Given the description of an element on the screen output the (x, y) to click on. 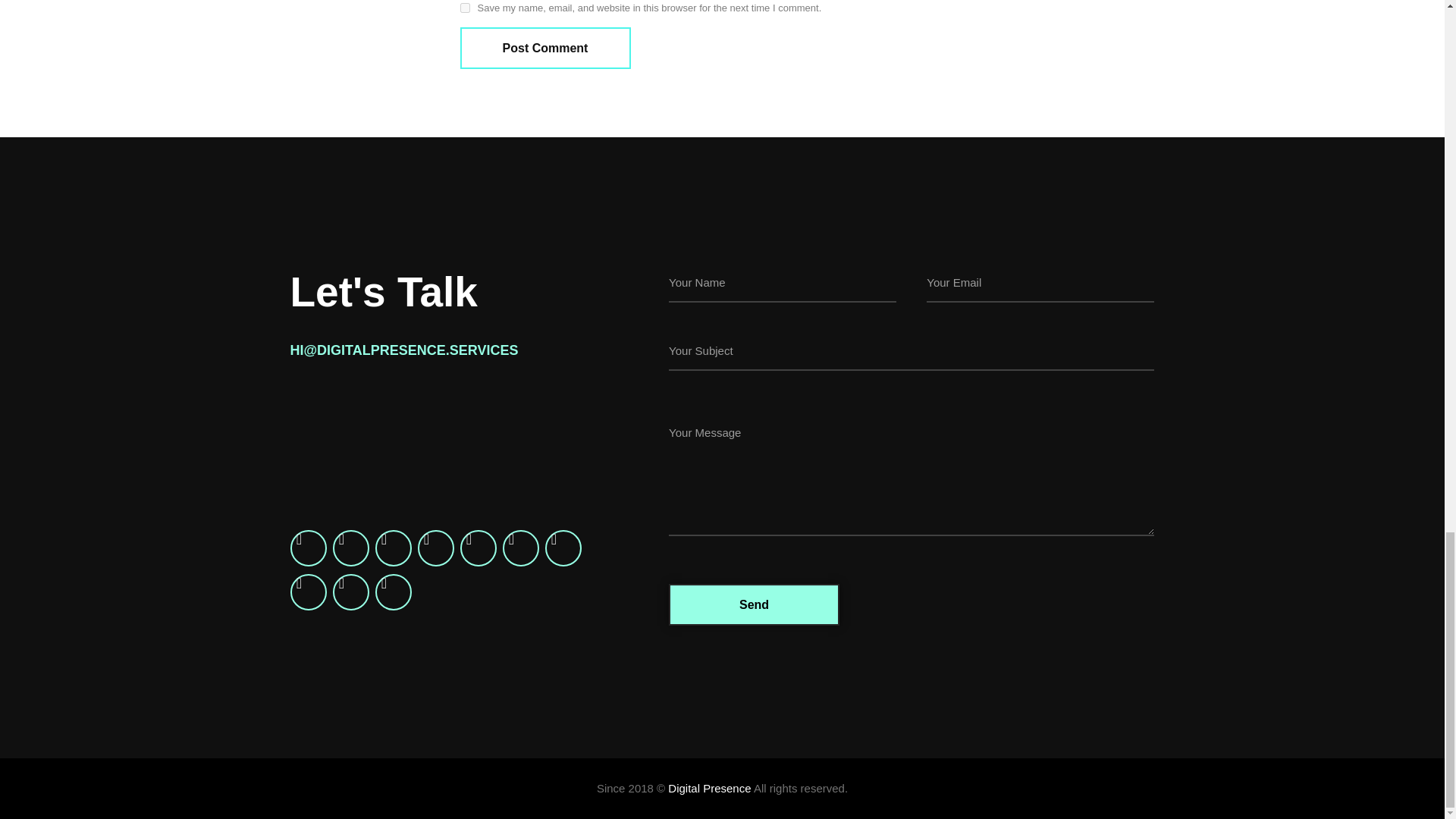
yes (464, 8)
Send (754, 604)
Post Comment (545, 47)
Post Comment (545, 47)
